Given the description of an element on the screen output the (x, y) to click on. 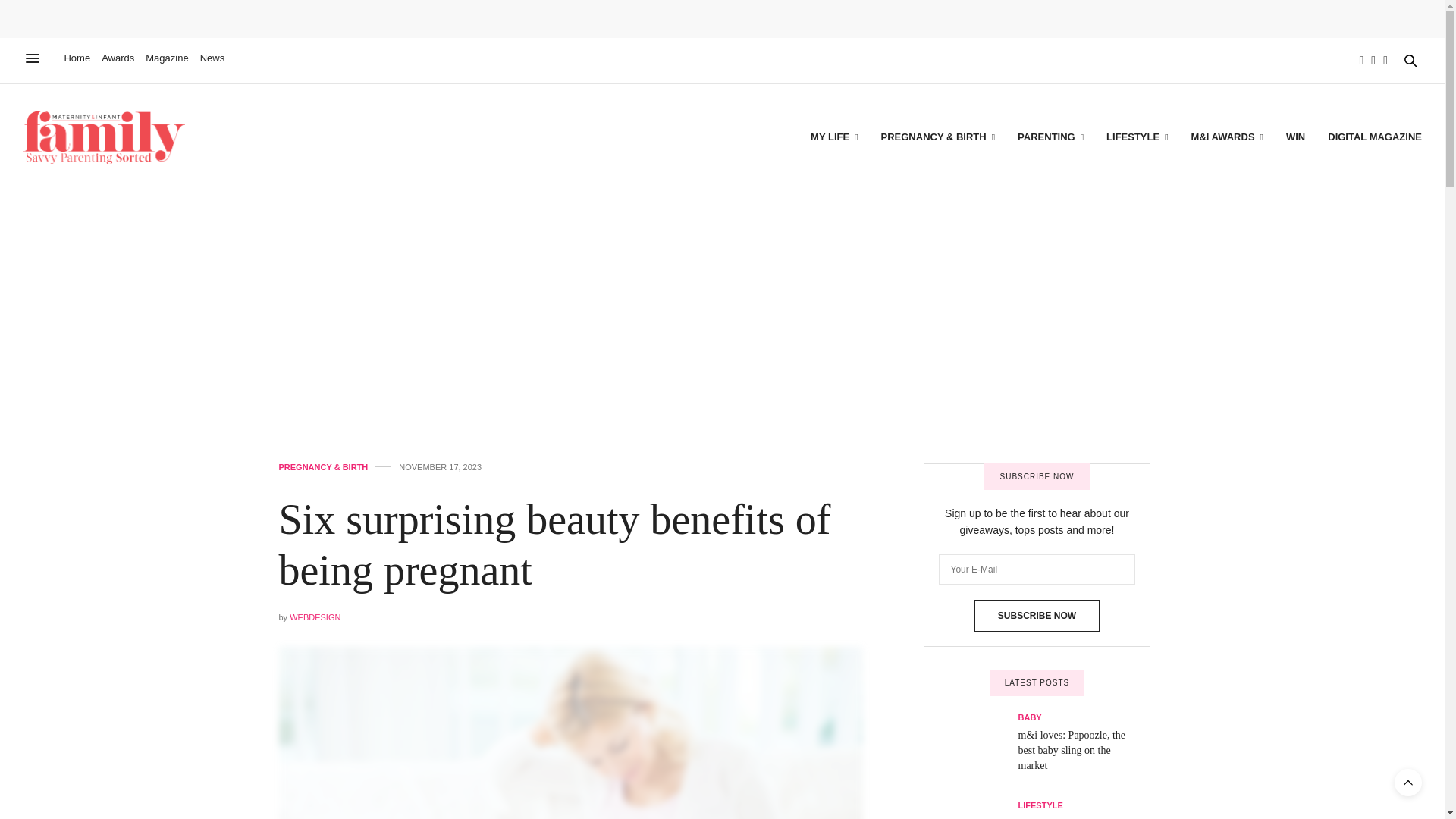
6 parents who are having a worse day than you (978, 805)
Maternity and Infant (103, 137)
6 parents who are having a worse day than you (1074, 818)
Posts by WebDesign (314, 616)
